Given the description of an element on the screen output the (x, y) to click on. 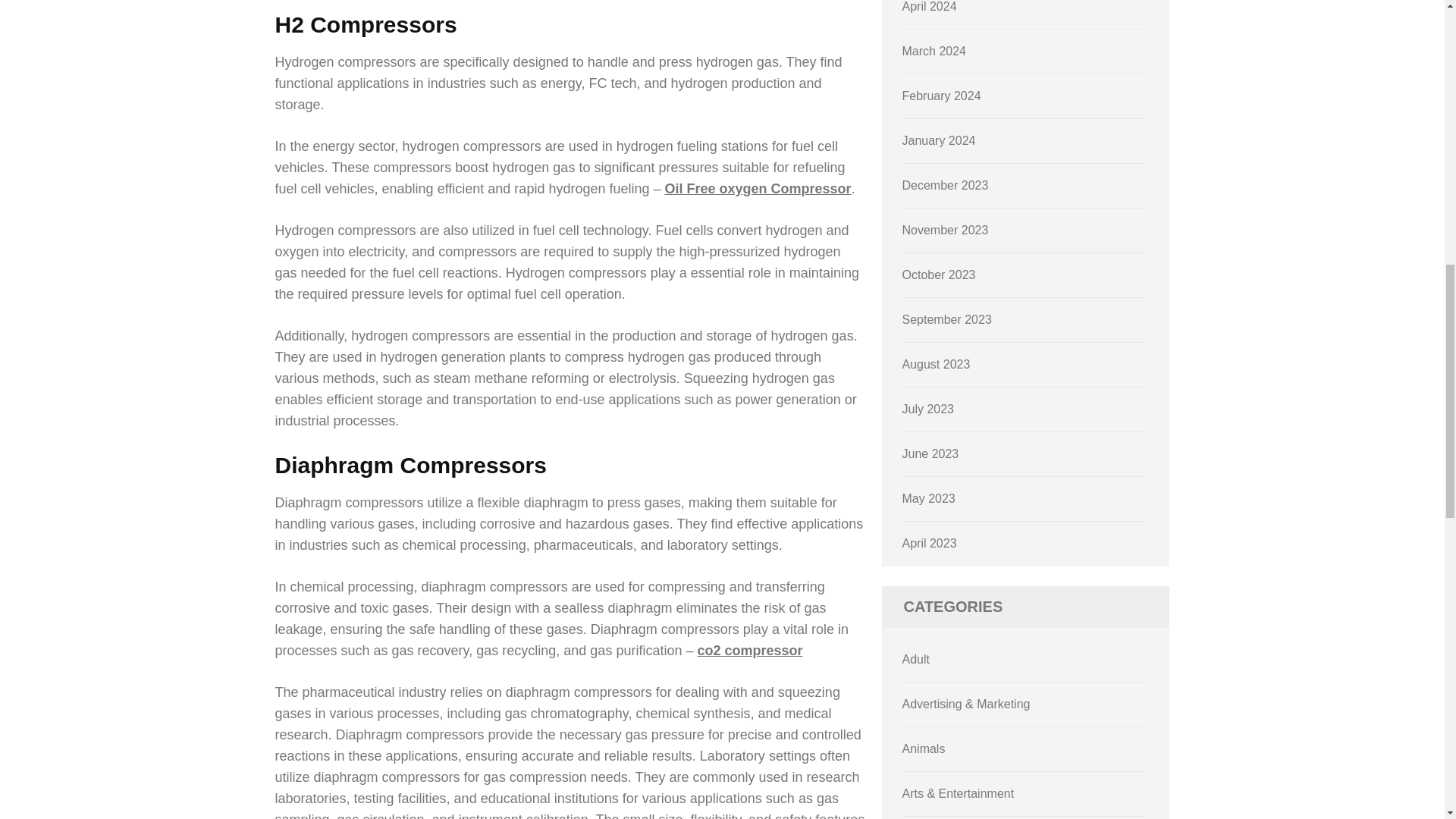
July 2023 (928, 410)
October 2023 (938, 277)
June 2023 (930, 455)
September 2023 (946, 321)
December 2023 (945, 187)
Oil Free oxygen Compressor (758, 188)
August 2023 (936, 366)
January 2024 (938, 142)
March 2024 (934, 52)
co2 compressor (749, 650)
